Given the description of an element on the screen output the (x, y) to click on. 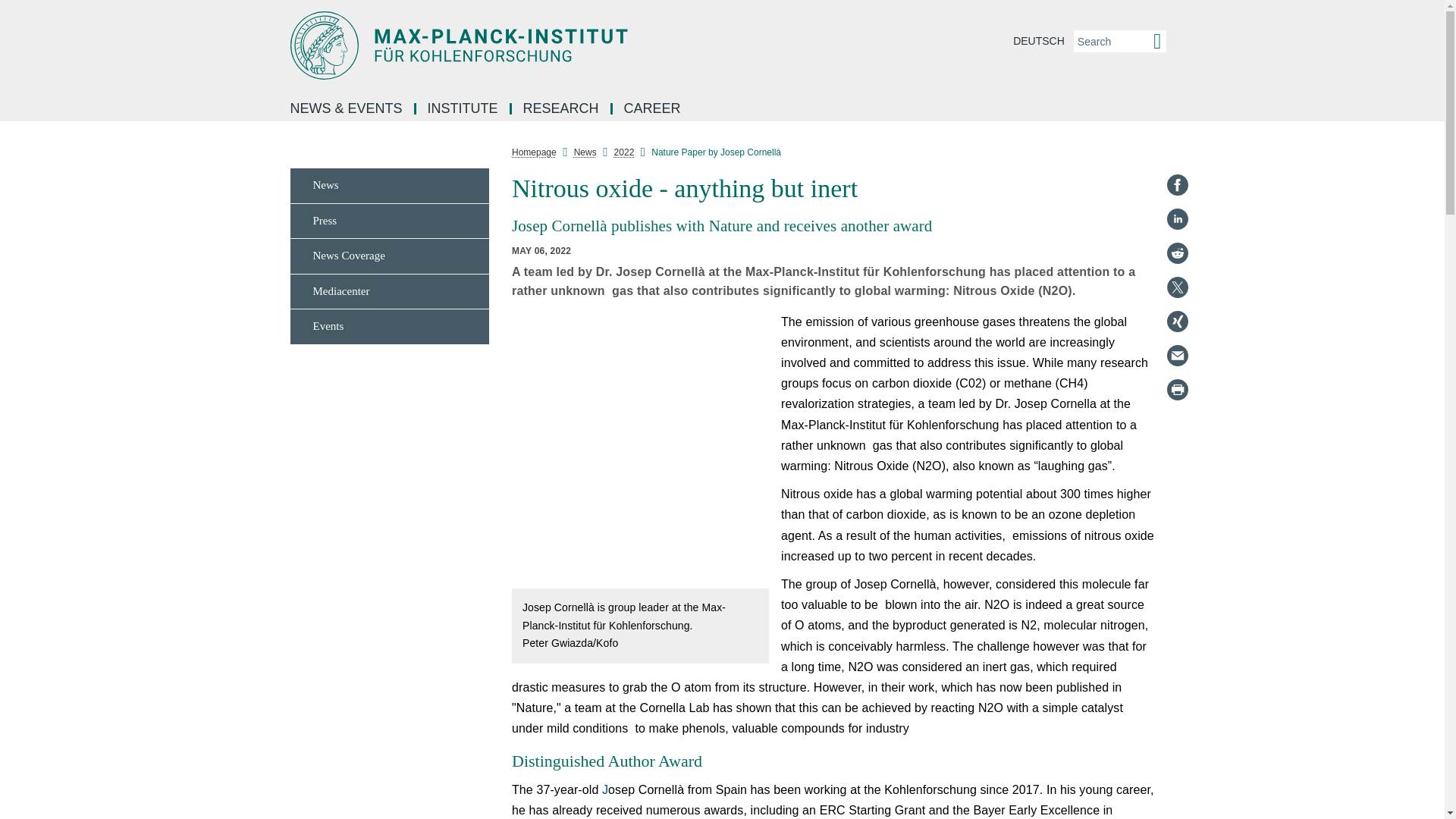
Print (1177, 389)
RESEARCH (562, 108)
Twitter (1177, 287)
DEUTSCH (1038, 41)
Xing (1177, 321)
Facebook (1177, 184)
E-Mail (1177, 354)
opens zoom view (640, 450)
Reddit (1177, 252)
LinkedIn (1177, 219)
